Given the description of an element on the screen output the (x, y) to click on. 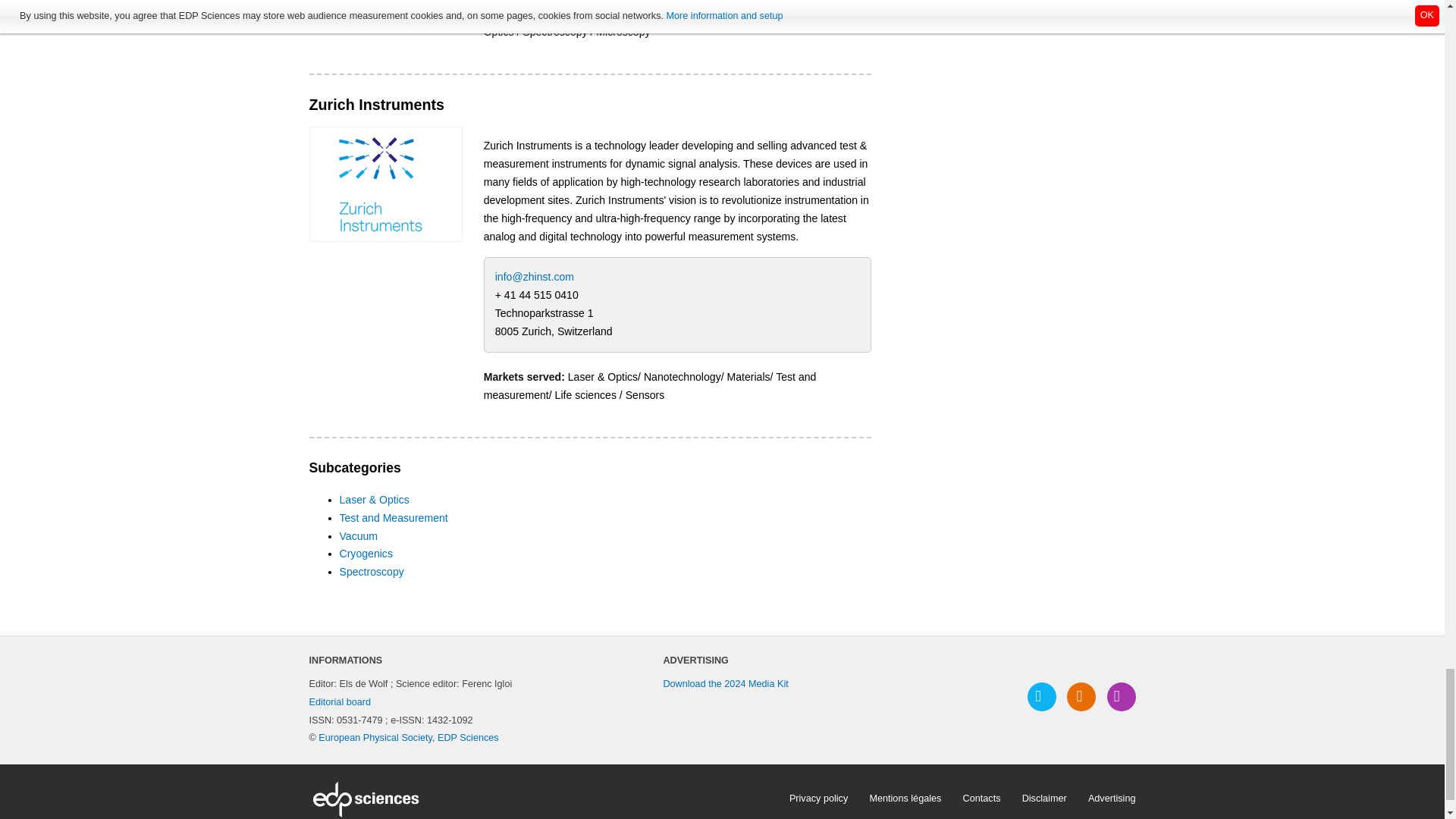
Access the website (385, 183)
Follow us on twitter (1042, 696)
